Given the description of an element on the screen output the (x, y) to click on. 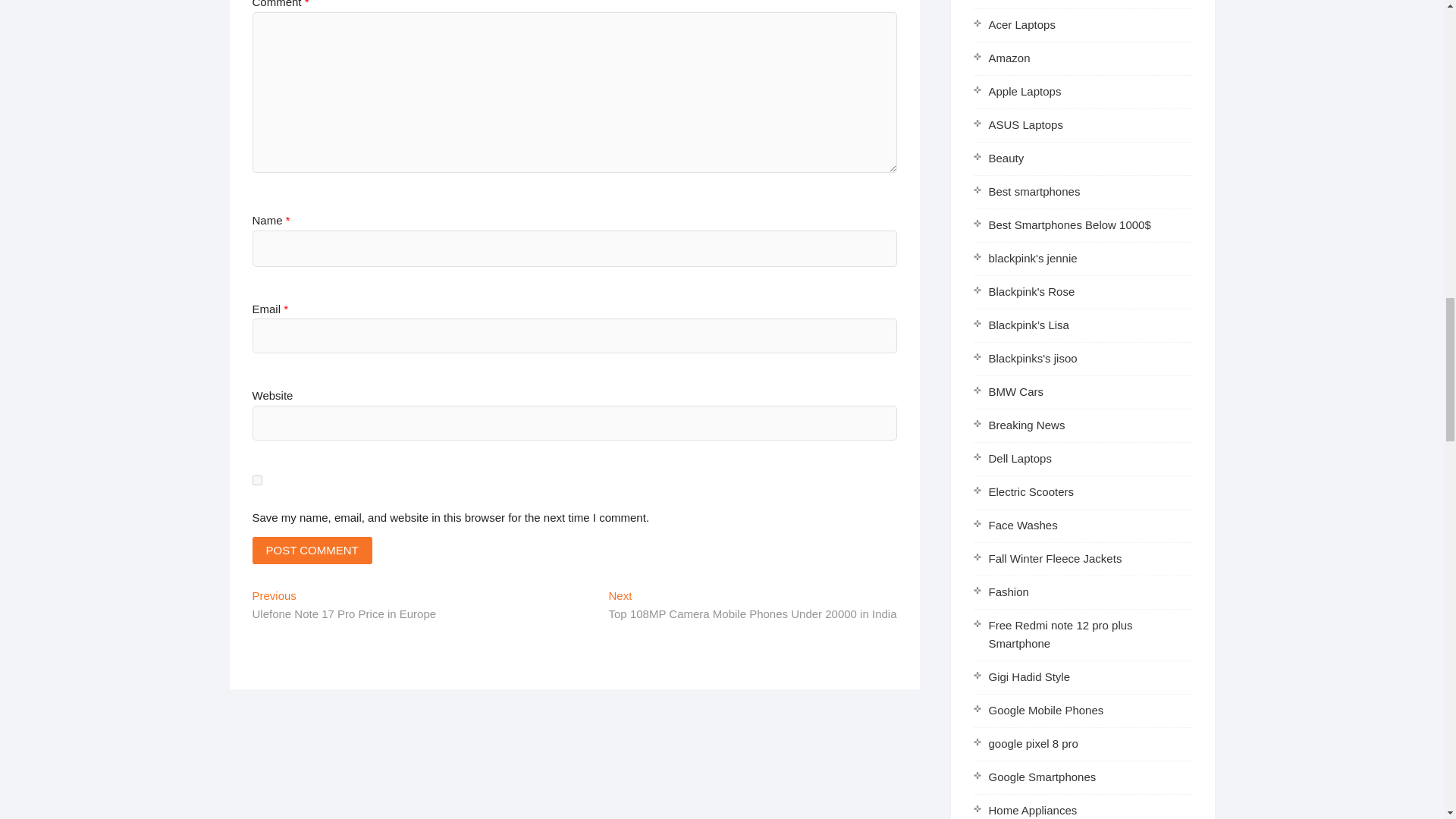
yes (256, 480)
Post Comment (311, 550)
